Given the description of an element on the screen output the (x, y) to click on. 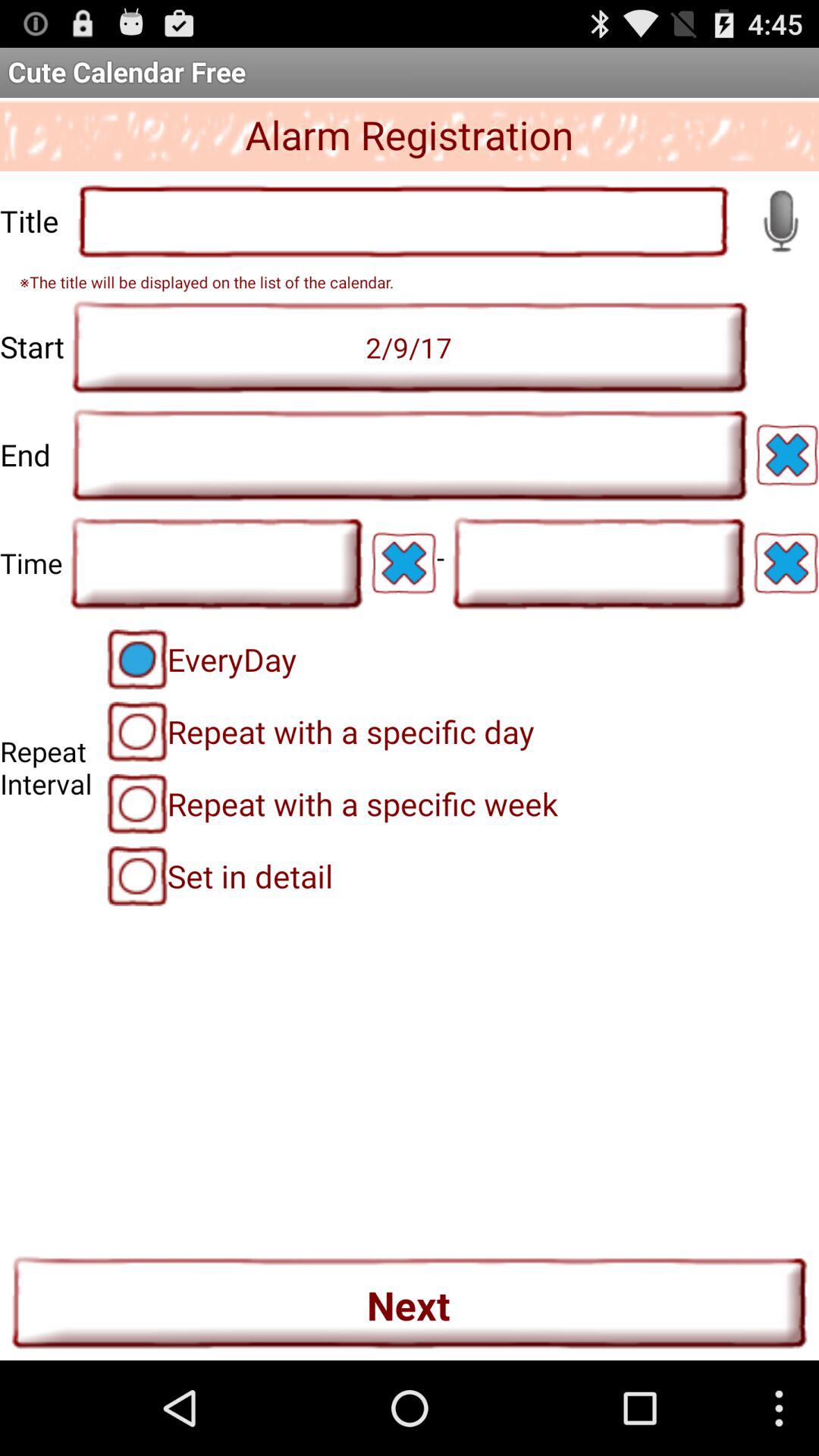
clear the area (787, 454)
